Given the description of an element on the screen output the (x, y) to click on. 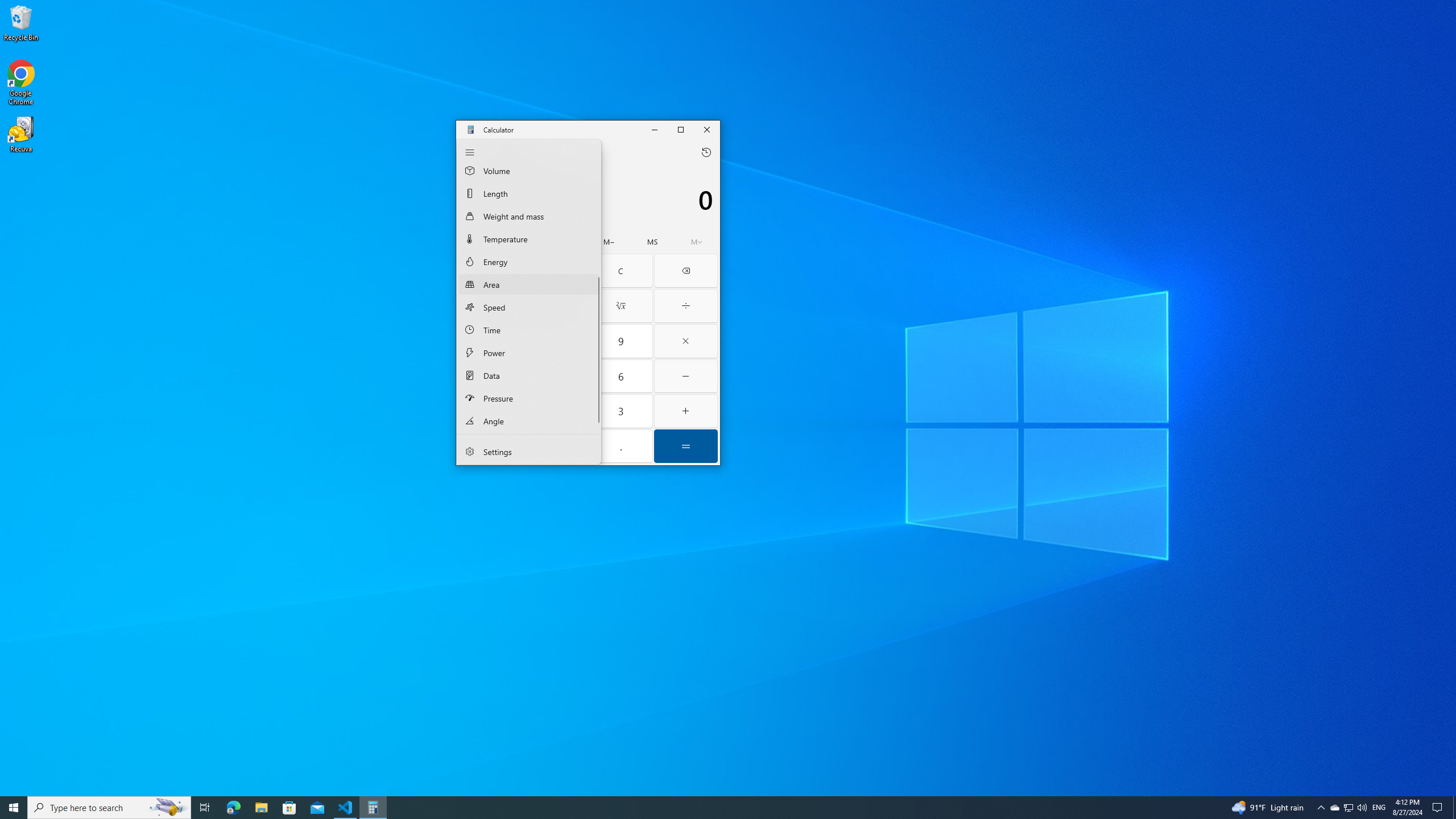
Equals (685, 445)
Square (556, 305)
Tray Input Indicator - English (United States) (1378, 807)
Calculator - 1 running window (373, 807)
File Explorer (261, 807)
Minus (685, 376)
Five (556, 376)
Close Calculator (707, 129)
Eight (556, 341)
Time Converter (528, 329)
Vertical Small Decrease (597, 167)
Notification Chevron (1320, 807)
Running applications (706, 807)
Multiply by (685, 341)
